Given the description of an element on the screen output the (x, y) to click on. 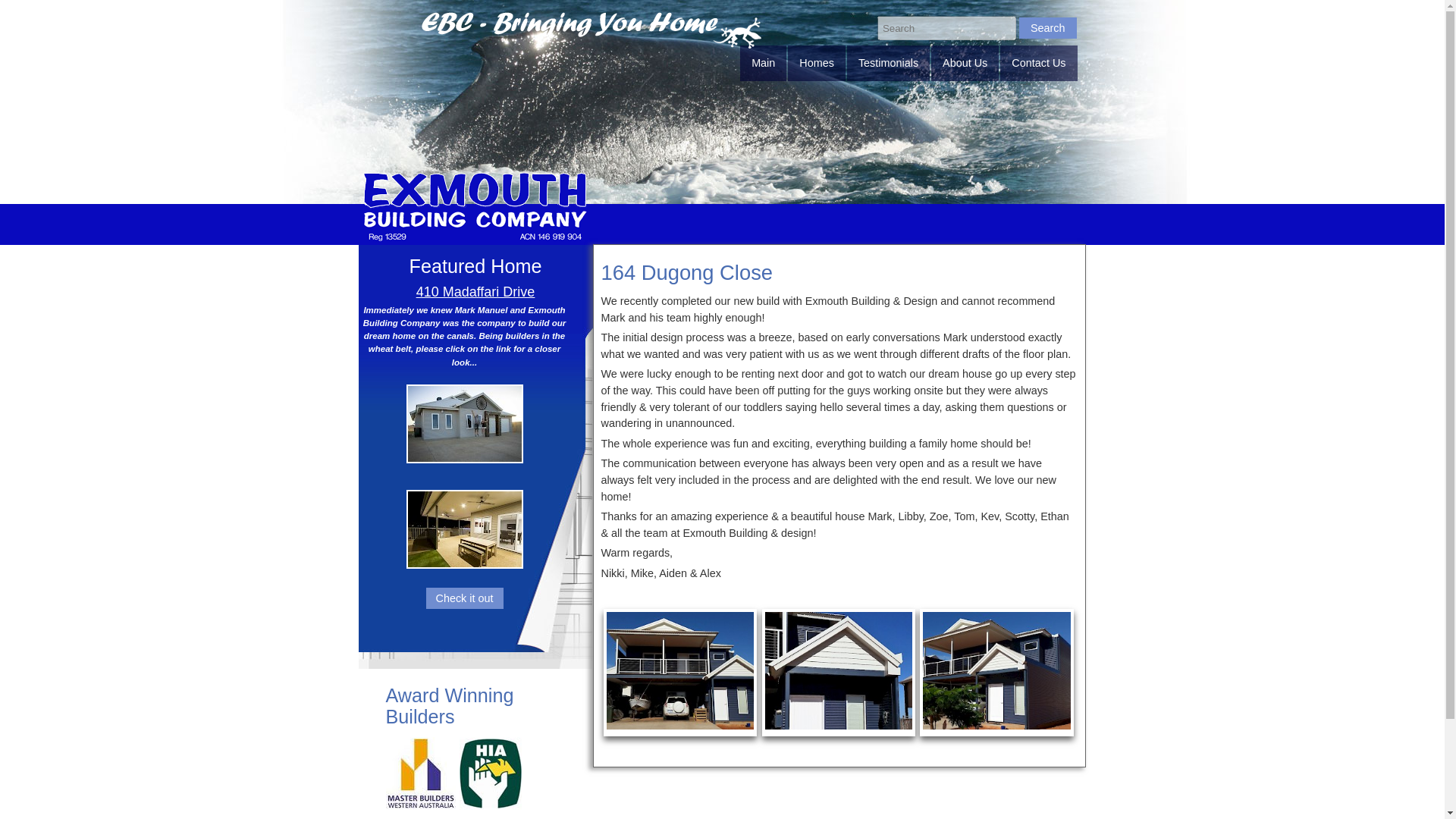
Contact Us (1038, 63)
Homes (816, 63)
Main (762, 63)
Check it out (464, 598)
About Us (964, 63)
Testimonials (888, 63)
Search (1048, 27)
